Given the description of an element on the screen output the (x, y) to click on. 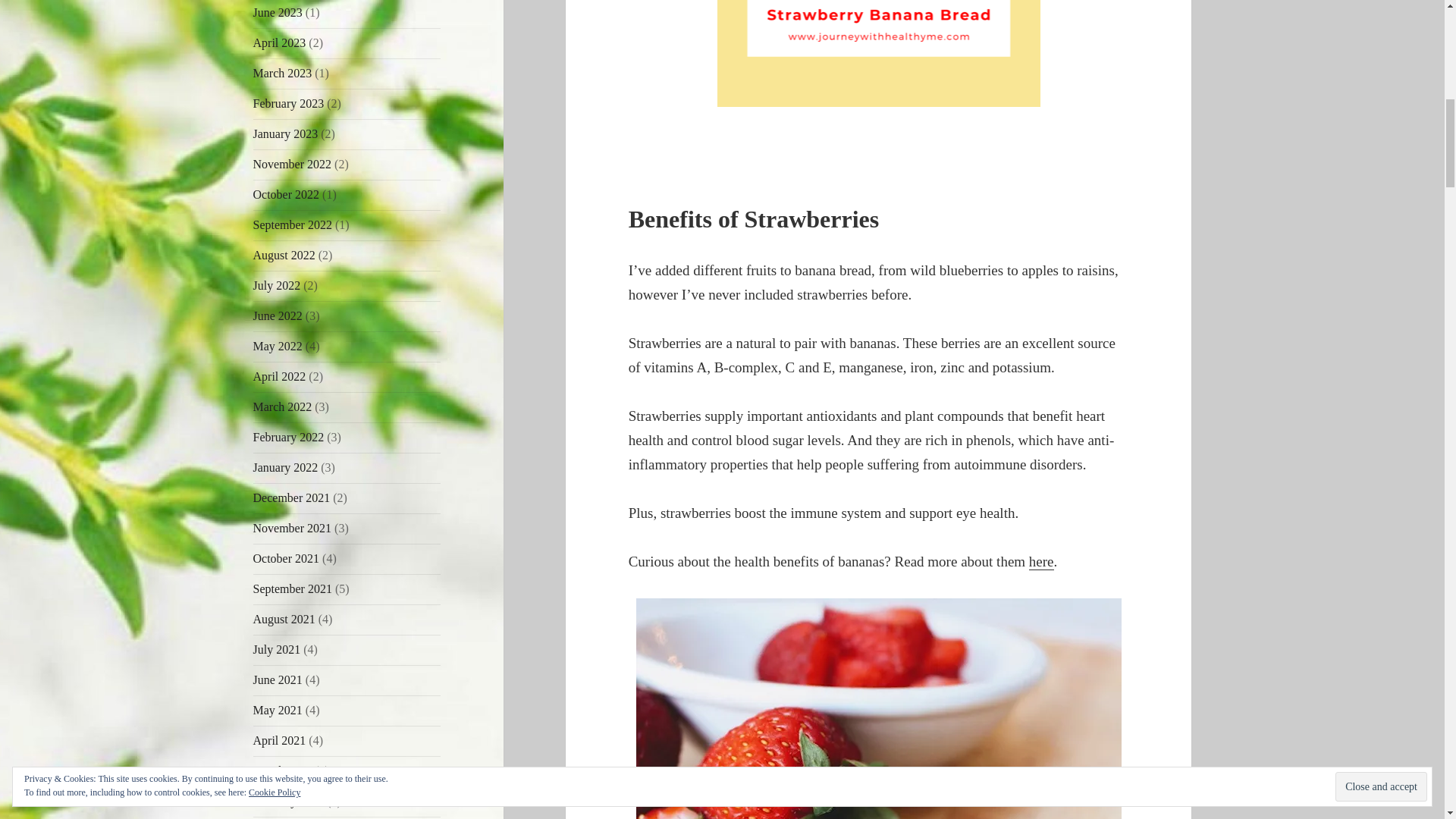
October 2022 (286, 194)
February 2023 (288, 103)
August 2021 (284, 618)
June 2021 (277, 679)
November 2022 (292, 164)
June 2022 (277, 315)
September 2022 (292, 224)
August 2022 (284, 254)
March 2022 (283, 406)
May 2022 (277, 345)
April 2022 (279, 376)
June 2023 (277, 11)
October 2021 (286, 558)
April 2023 (279, 42)
July 2021 (277, 649)
